Given the description of an element on the screen output the (x, y) to click on. 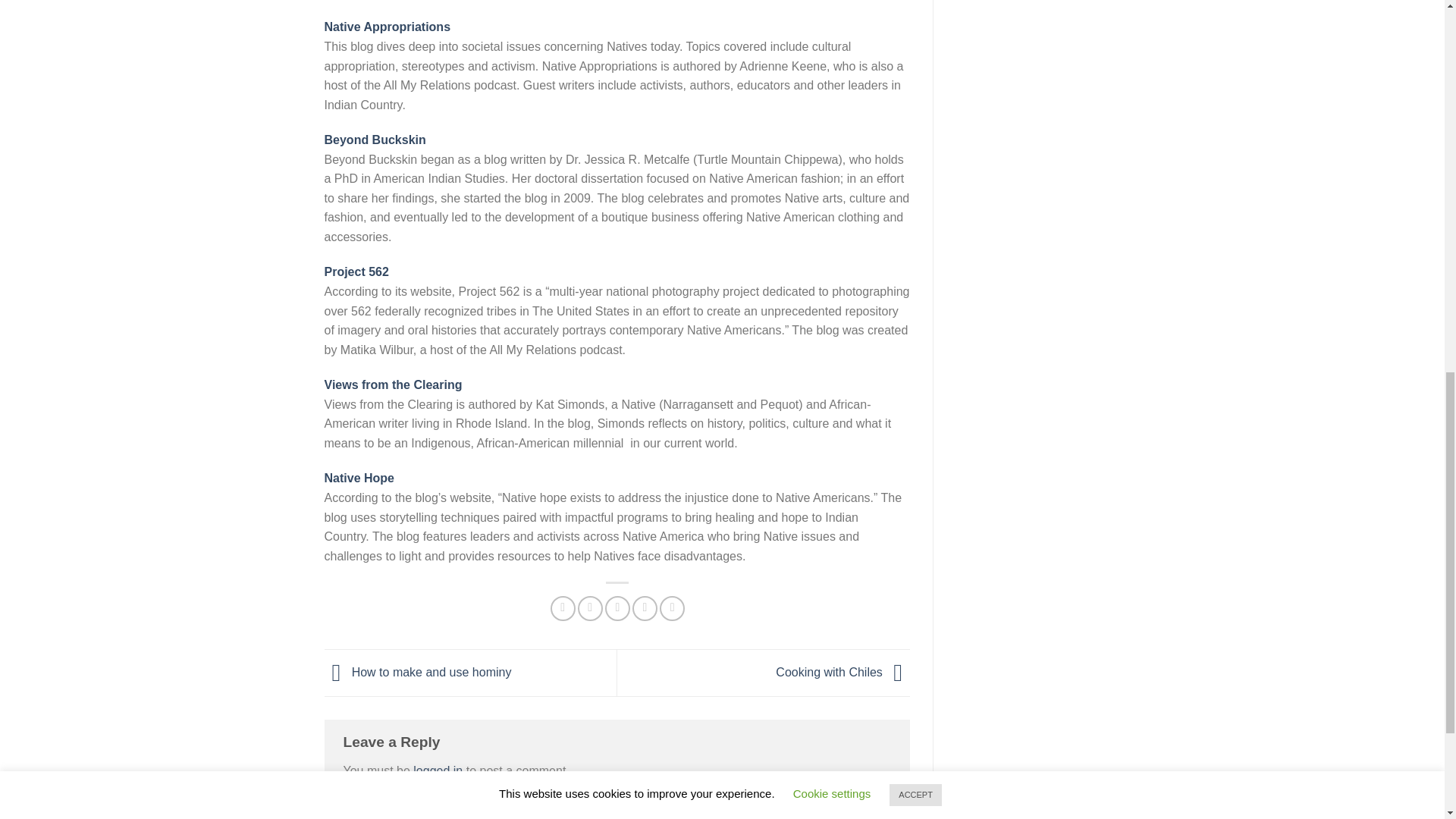
How to make and use hominy (418, 671)
Cooking with Chiles (843, 671)
Beyond Buckskin (375, 139)
Pin on Pinterest (644, 608)
Native Hope (359, 477)
Share on Tumblr (671, 608)
logged in (438, 770)
Views from the Clearing (393, 384)
Share on Twitter (590, 608)
Native Appropriations (387, 26)
Email to a Friend (617, 608)
Project 562 (356, 271)
Share on Facebook (562, 608)
